Given the description of an element on the screen output the (x, y) to click on. 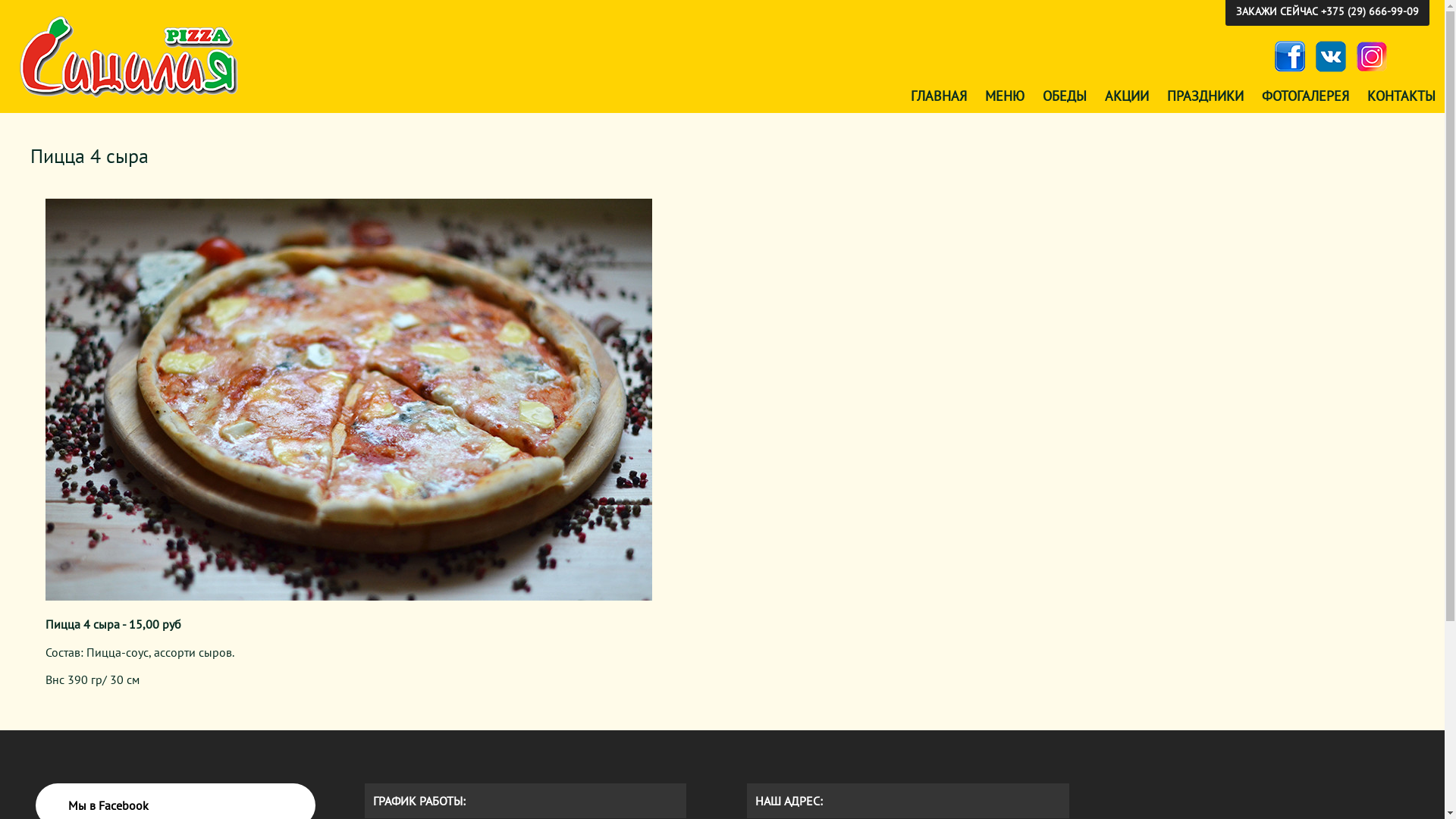
pizzasicilia.by Element type: hover (130, 57)
